Given the description of an element on the screen output the (x, y) to click on. 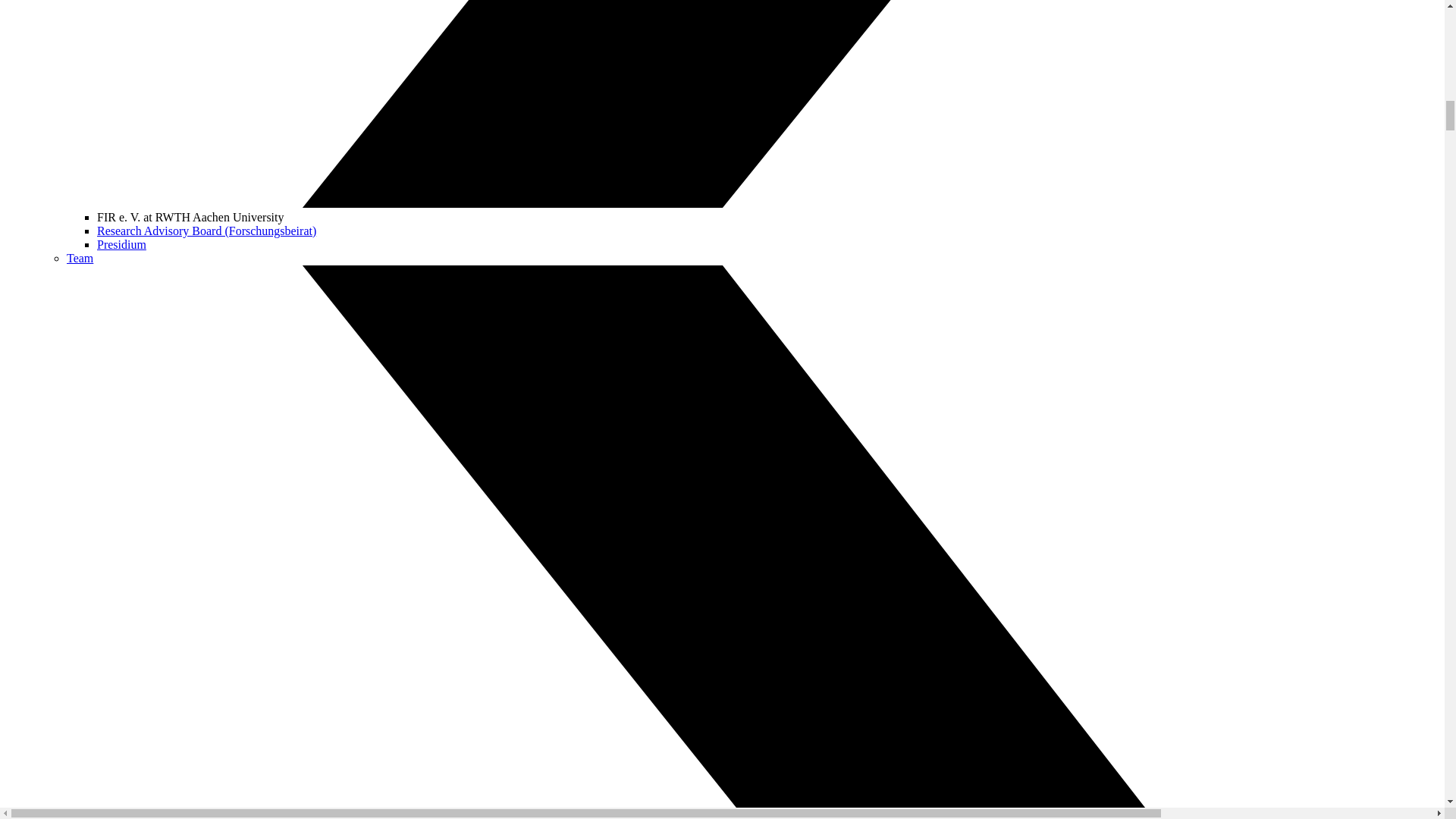
Presidium (122, 244)
